Given the description of an element on the screen output the (x, y) to click on. 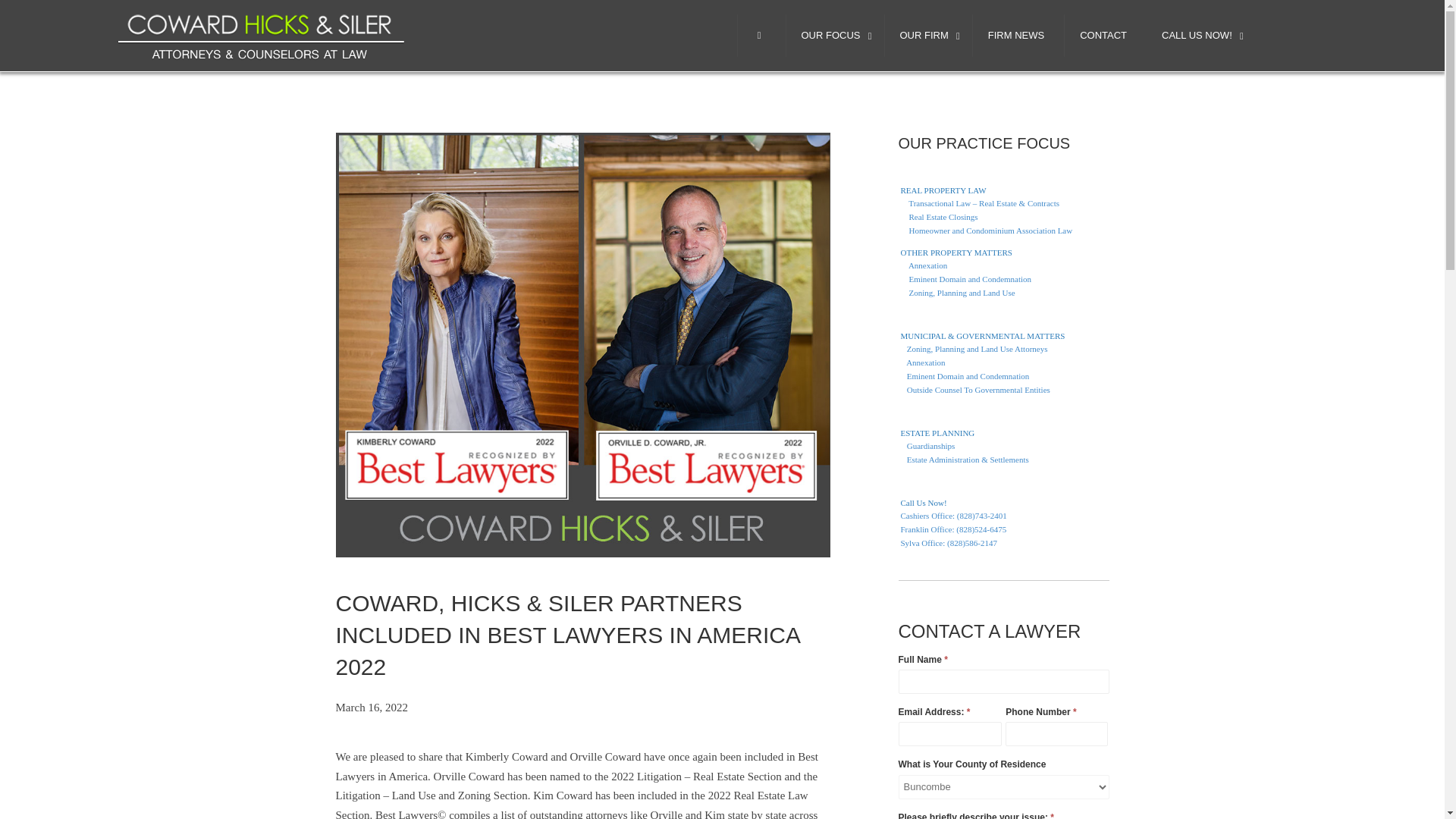
   Zoning, Planning and Land Use Attorneys (1003, 349)
slideshow (261, 33)
    Homeowner and Condominium Association Law (1003, 230)
   Eminent Domain and Condemnation (1003, 376)
    Zoning, Planning and Land Use (1003, 292)
FIRM NEWS (1015, 35)
REAL PROPERTY LAW (1003, 190)
OTHER PROPERTY MATTERS (1003, 248)
    Annexation (1003, 265)
    Real Estate Closings (1003, 216)
   Annexation (1003, 362)
CALL US NOW! (1198, 35)
    Eminent Domain and Condemnation (1003, 278)
CONTACT (1102, 35)
